Given the description of an element on the screen output the (x, y) to click on. 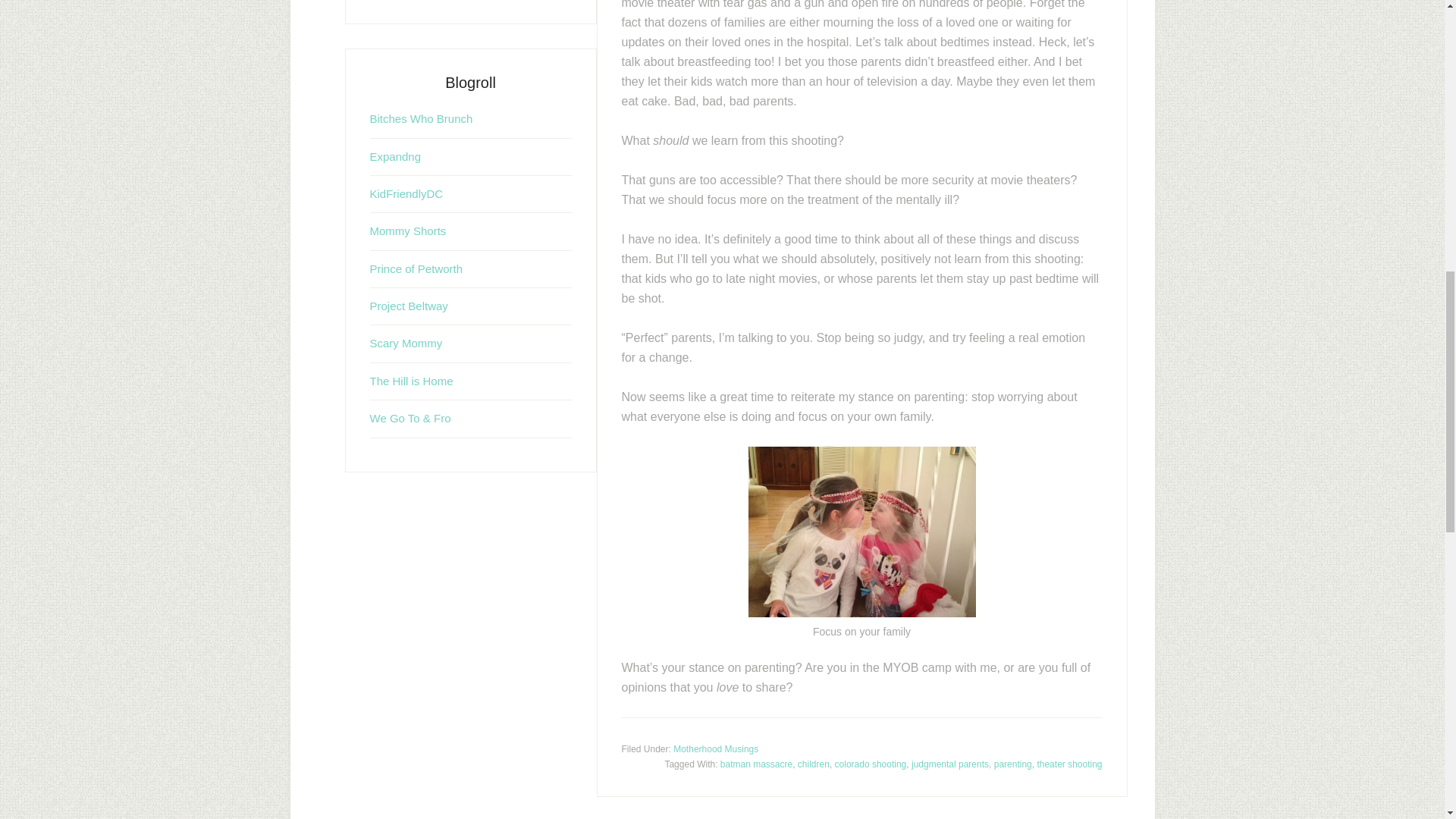
parenting (1013, 764)
smooch (861, 530)
Bitches Who Brunch (421, 118)
Motherhood Musings (715, 748)
colorado shooting (870, 764)
Expandng (395, 155)
batman massacre (756, 764)
theater shooting (1069, 764)
KidFriendlyDC (406, 193)
Mommy Shorts (407, 230)
judgmental parents (949, 764)
children (813, 764)
